Given the description of an element on the screen output the (x, y) to click on. 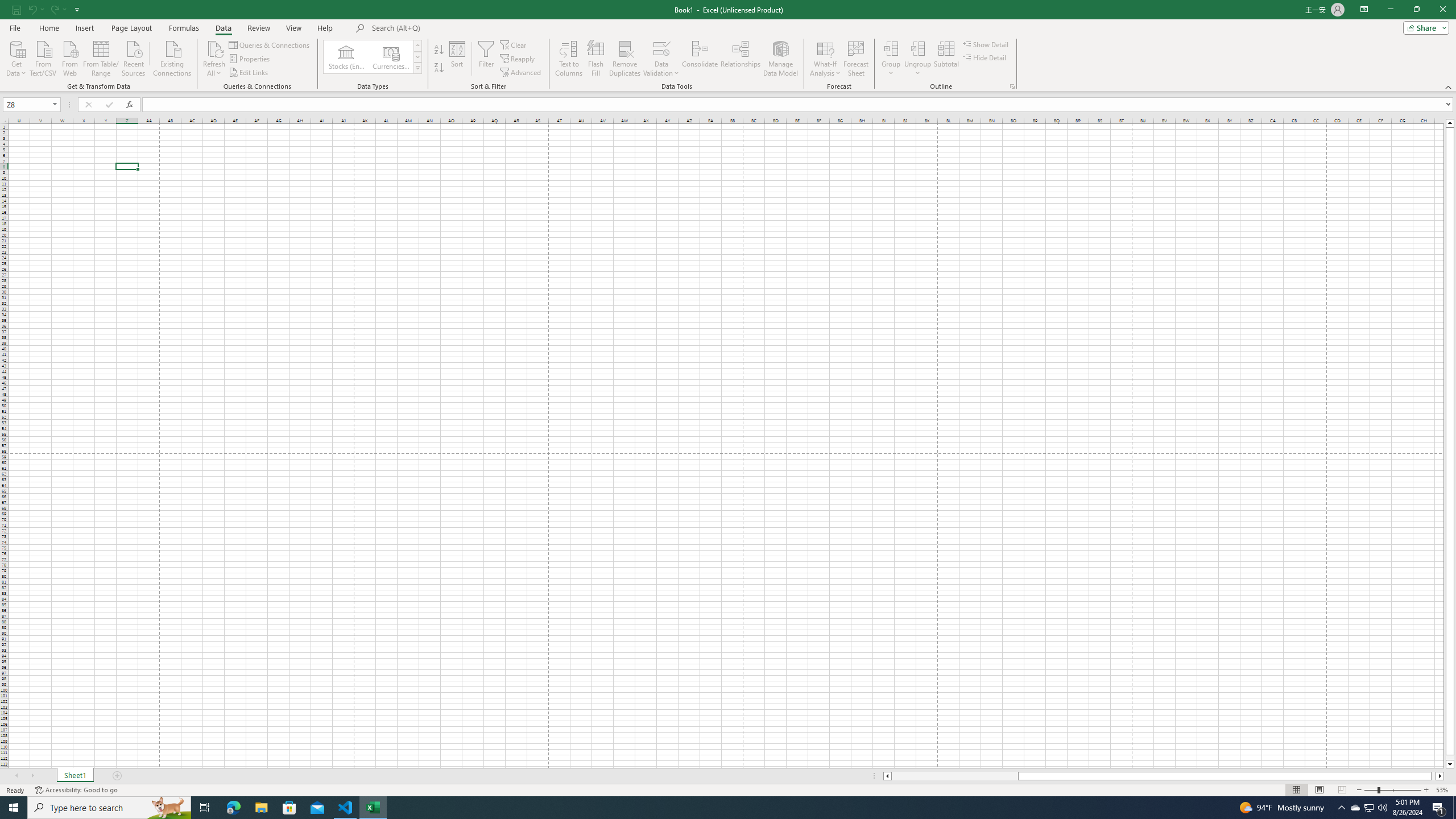
Sort... (456, 58)
Edit Links (249, 72)
Filter (485, 58)
Sort Z to A (438, 67)
Subtotal (946, 58)
Forecast Sheet (856, 58)
What-If Analysis (825, 58)
Clear (513, 44)
Column right (1440, 775)
Row Down (417, 56)
Class: NetUIImage (418, 68)
Class: MsoCommandBar (728, 45)
Restore Down (1416, 9)
Refresh All (214, 58)
